Given the description of an element on the screen output the (x, y) to click on. 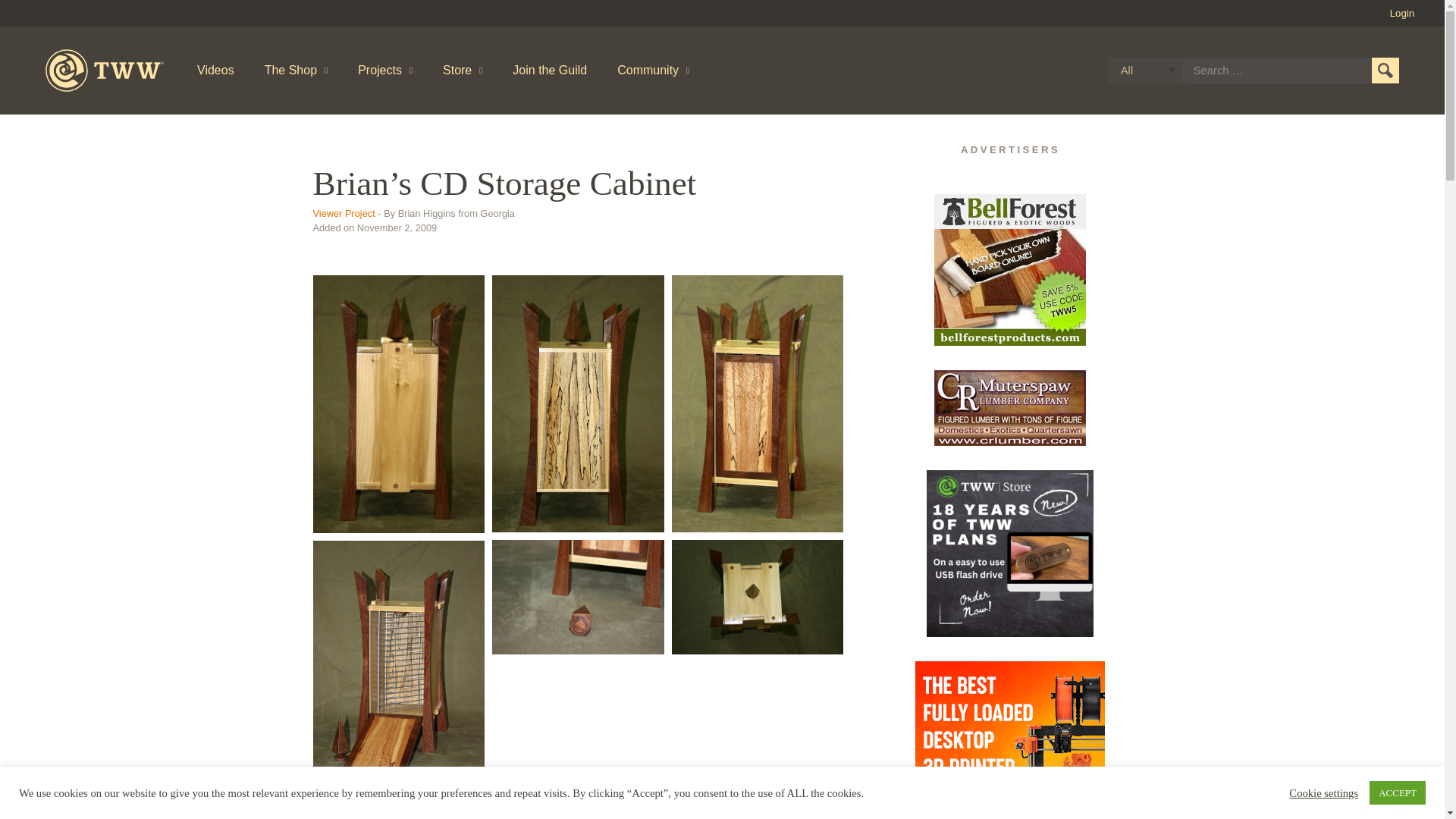
Bell Forest (1010, 269)
Search (1385, 70)
Login (1401, 12)
The best printer of 2021 (1010, 739)
Store (462, 70)
Search (1385, 70)
Join the Guild (549, 70)
Projects (385, 70)
Videos (215, 70)
Search for: (1275, 70)
Community (653, 70)
The Shop (295, 70)
